Given the description of an element on the screen output the (x, y) to click on. 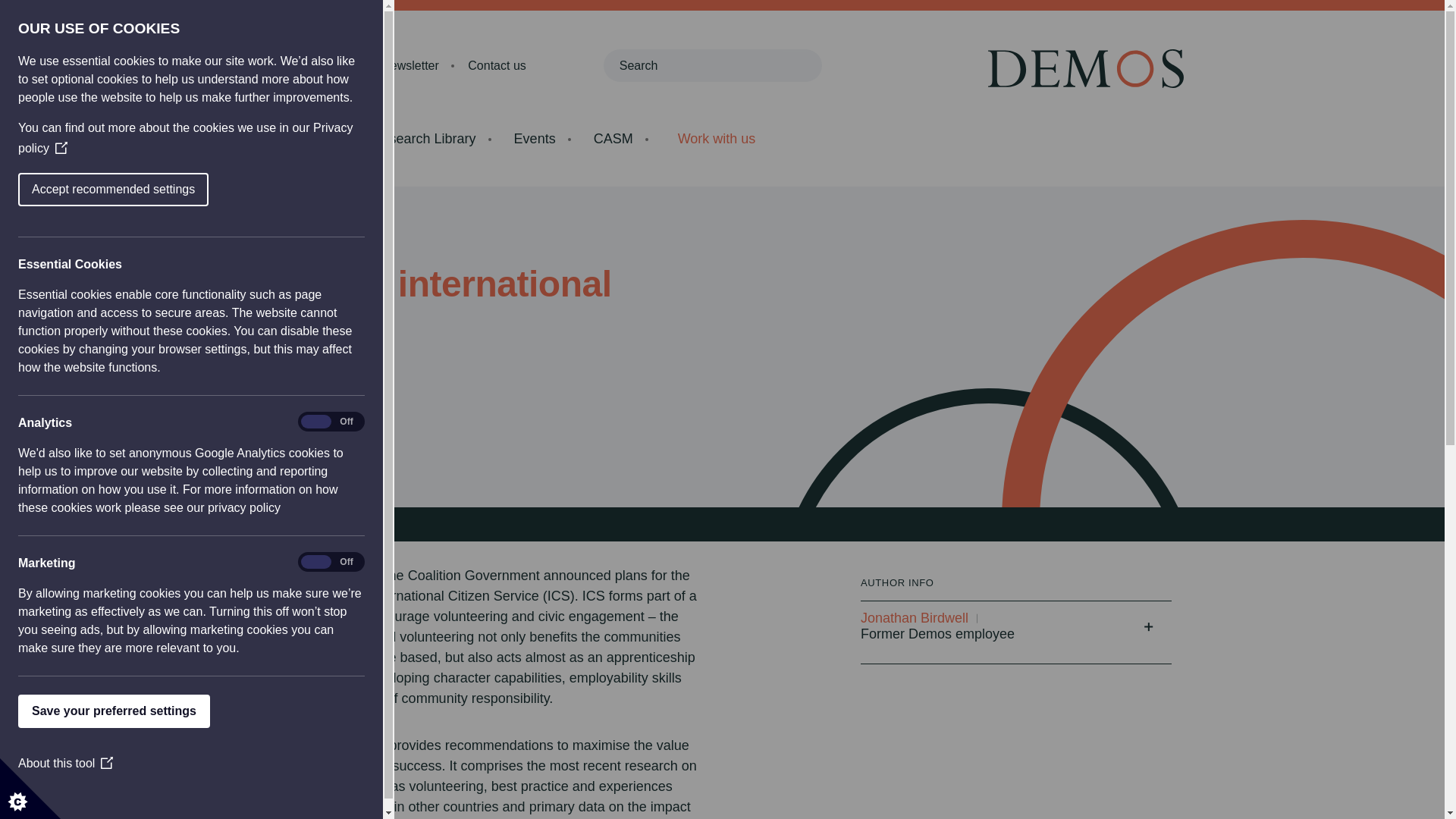
Work with us (716, 139)
Demos (1094, 68)
Research Library (424, 138)
News (336, 65)
CASM (613, 138)
About (276, 65)
Events (534, 138)
What we do (298, 138)
Contact us (496, 65)
Newsletter (410, 65)
